Given the description of an element on the screen output the (x, y) to click on. 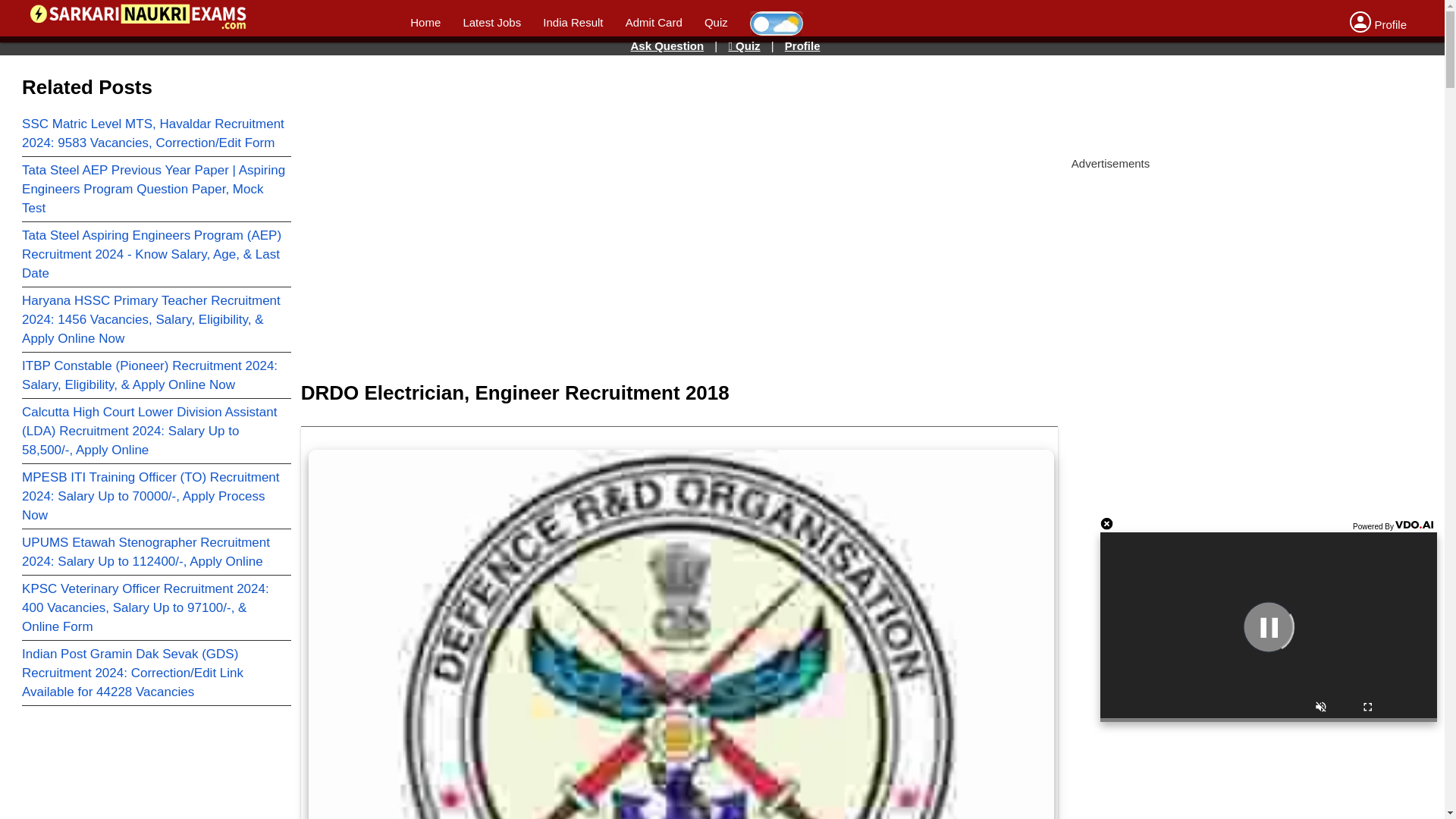
Profile (802, 45)
Sarkari Exam, Sarkari Result, SarkariResult, Sarkari Naukri (138, 18)
Pause (1267, 626)
Profile (1377, 24)
Fullscreen (1367, 708)
Ask Question (667, 45)
Advertisement (644, 101)
India Result (572, 21)
Unmute (1321, 708)
Advertisement (663, 235)
